Given the description of an element on the screen output the (x, y) to click on. 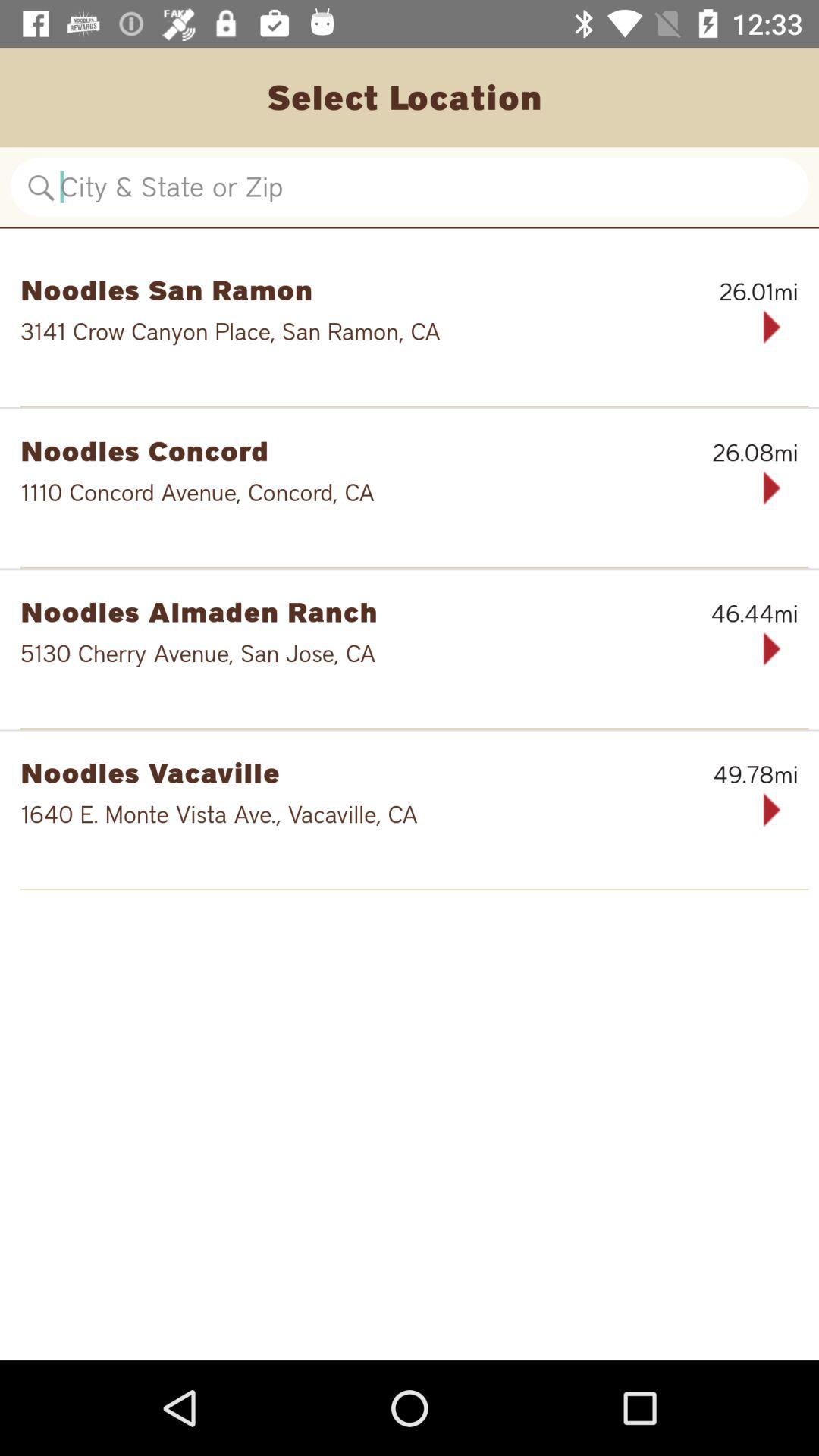
select the noodles almaden ranch  icon (331, 611)
